Given the description of an element on the screen output the (x, y) to click on. 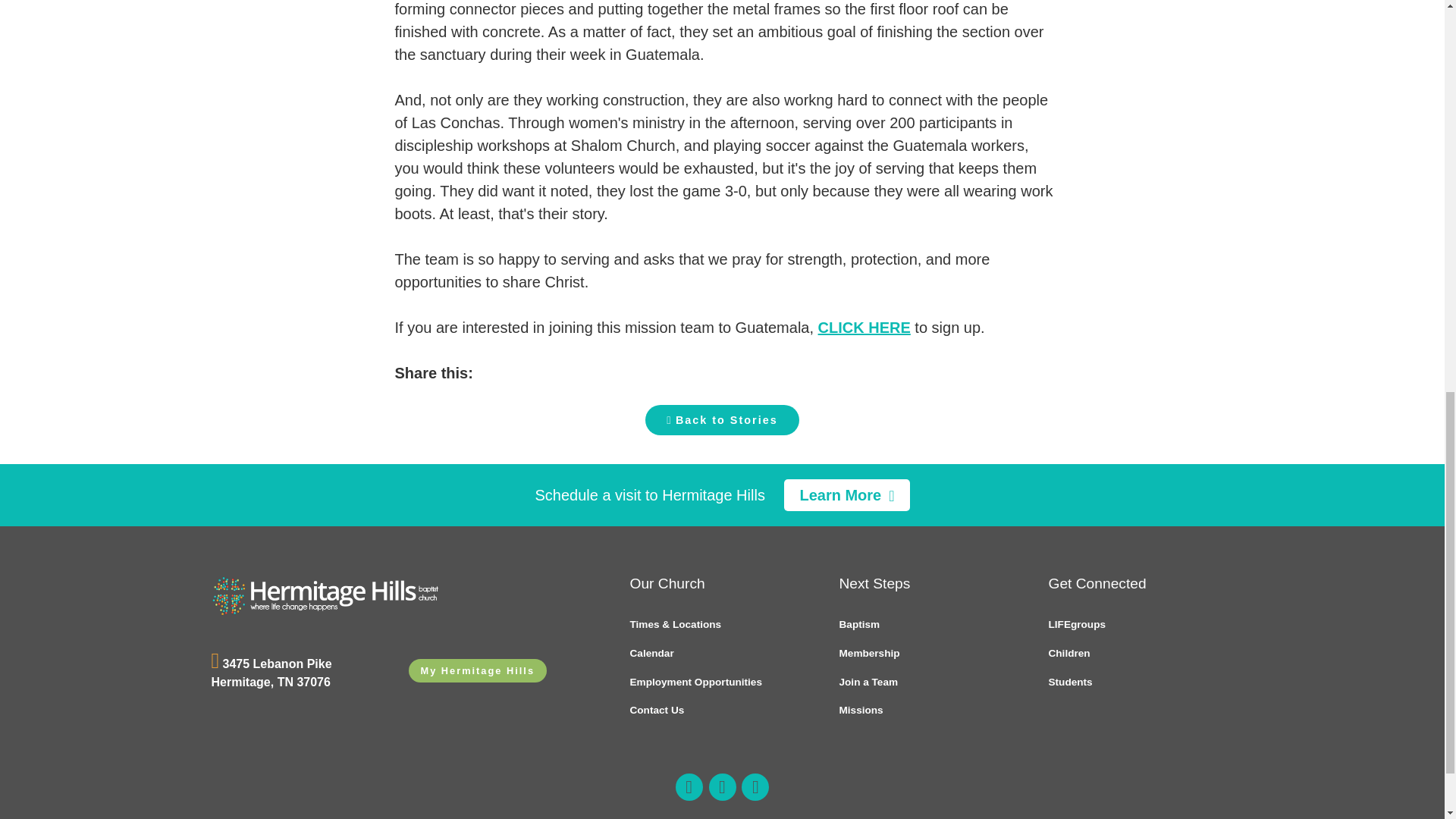
Calendar (720, 653)
Employment Opportunities (720, 682)
Contact Us (720, 710)
My Hermitage Hills (477, 670)
Learn More (846, 495)
Back to Stories (721, 419)
CLICK HERE (864, 327)
Join a Team (930, 682)
Membership (930, 653)
Baptism (930, 624)
